Given the description of an element on the screen output the (x, y) to click on. 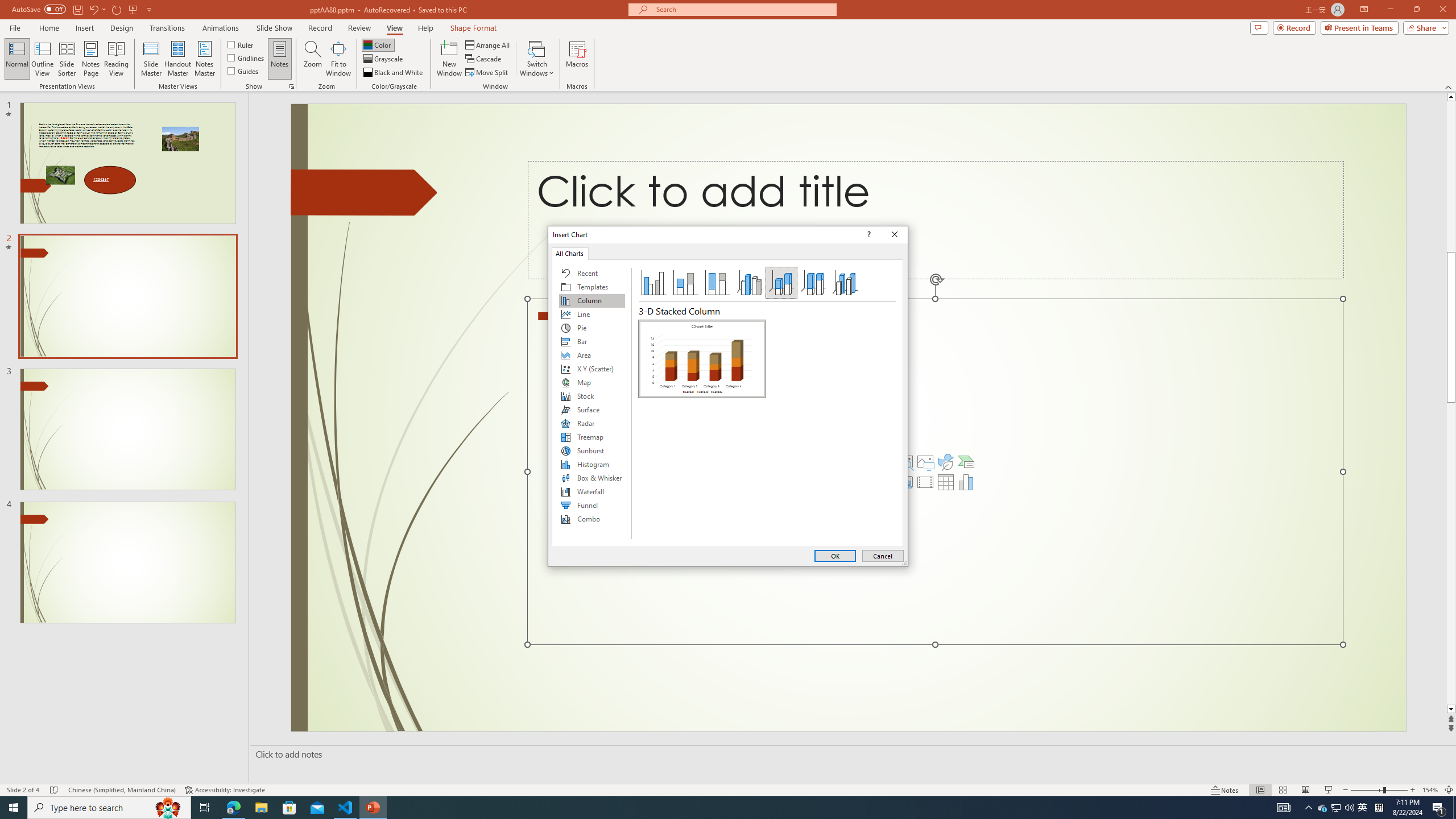
New Window (449, 58)
Guides (243, 69)
Pie (591, 327)
Waterfall (591, 491)
